Given the description of an element on the screen output the (x, y) to click on. 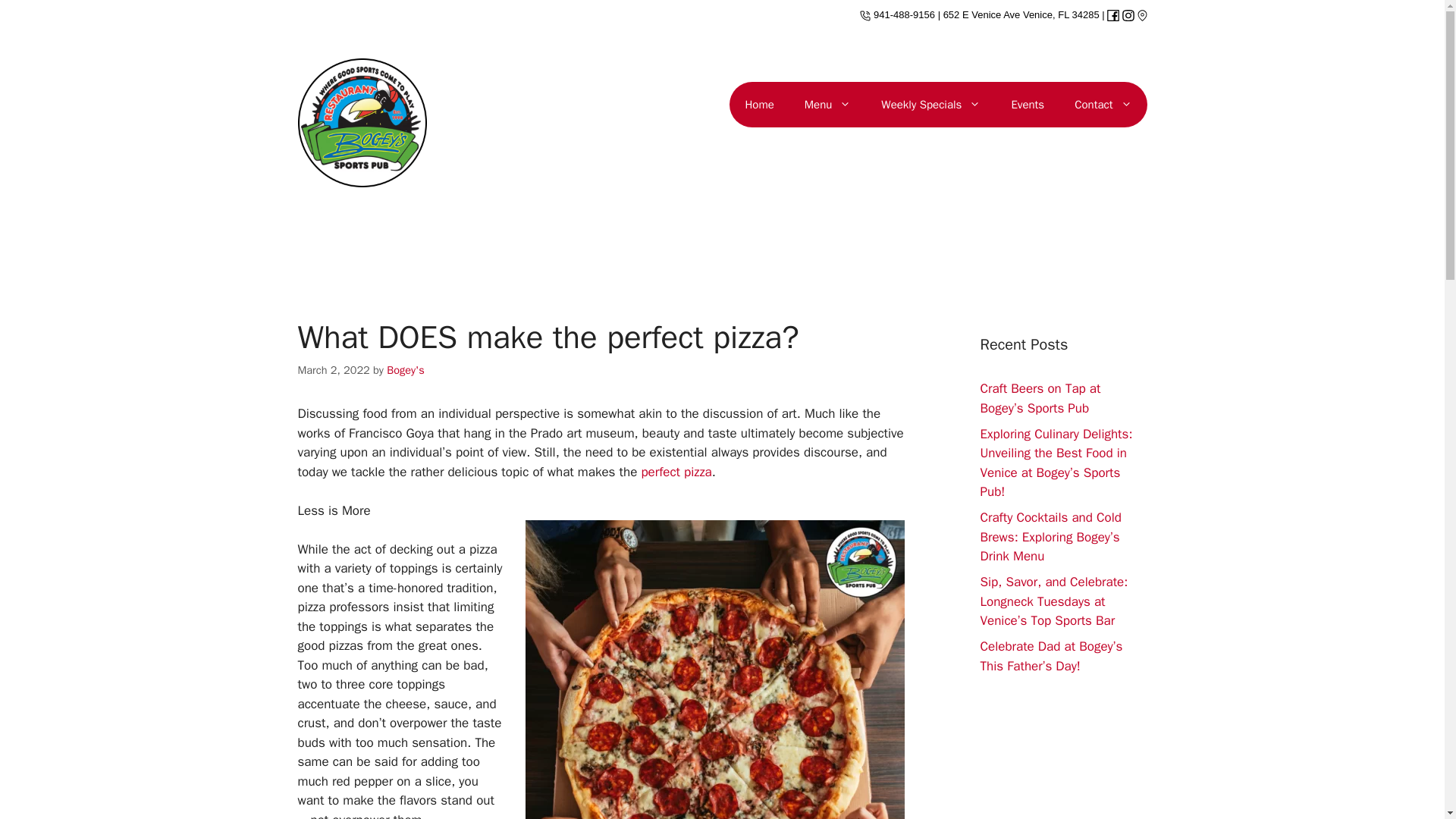
941-488-9156 (897, 14)
best restaurant venice (759, 104)
places to eat in venice (827, 104)
Weekly Specials (930, 104)
best bar in venice (1021, 14)
Events (1027, 104)
drink specials venice (1112, 14)
Home (759, 104)
Menu (827, 104)
Contact (1103, 104)
